Given the description of an element on the screen output the (x, y) to click on. 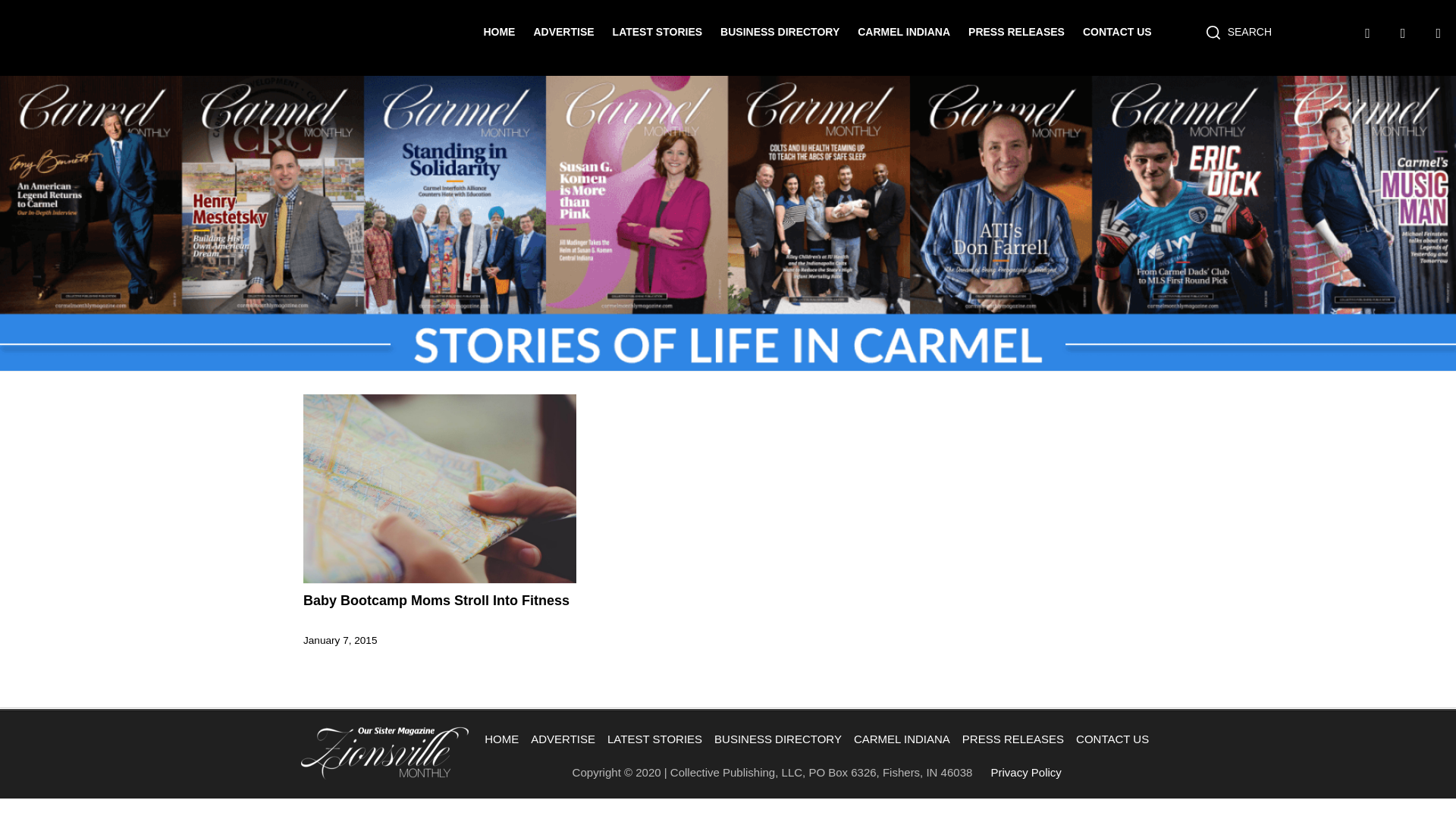
HOME (499, 31)
HOME (501, 738)
BUSINESS DIRECTORY (780, 31)
CONTACT US (1117, 31)
Privacy Policy (1026, 771)
Baby Bootcamp Moms Stroll Into Fitness (439, 600)
CARMEL INDIANA (903, 31)
CONTACT US (1112, 738)
PRESS RELEASES (1016, 31)
LATEST STORIES (657, 31)
LATEST STORIES (654, 738)
ADVERTISE (562, 738)
PRESS RELEASES (1013, 738)
BUSINESS DIRECTORY (777, 738)
CARMEL INDIANA (901, 738)
